Given the description of an element on the screen output the (x, y) to click on. 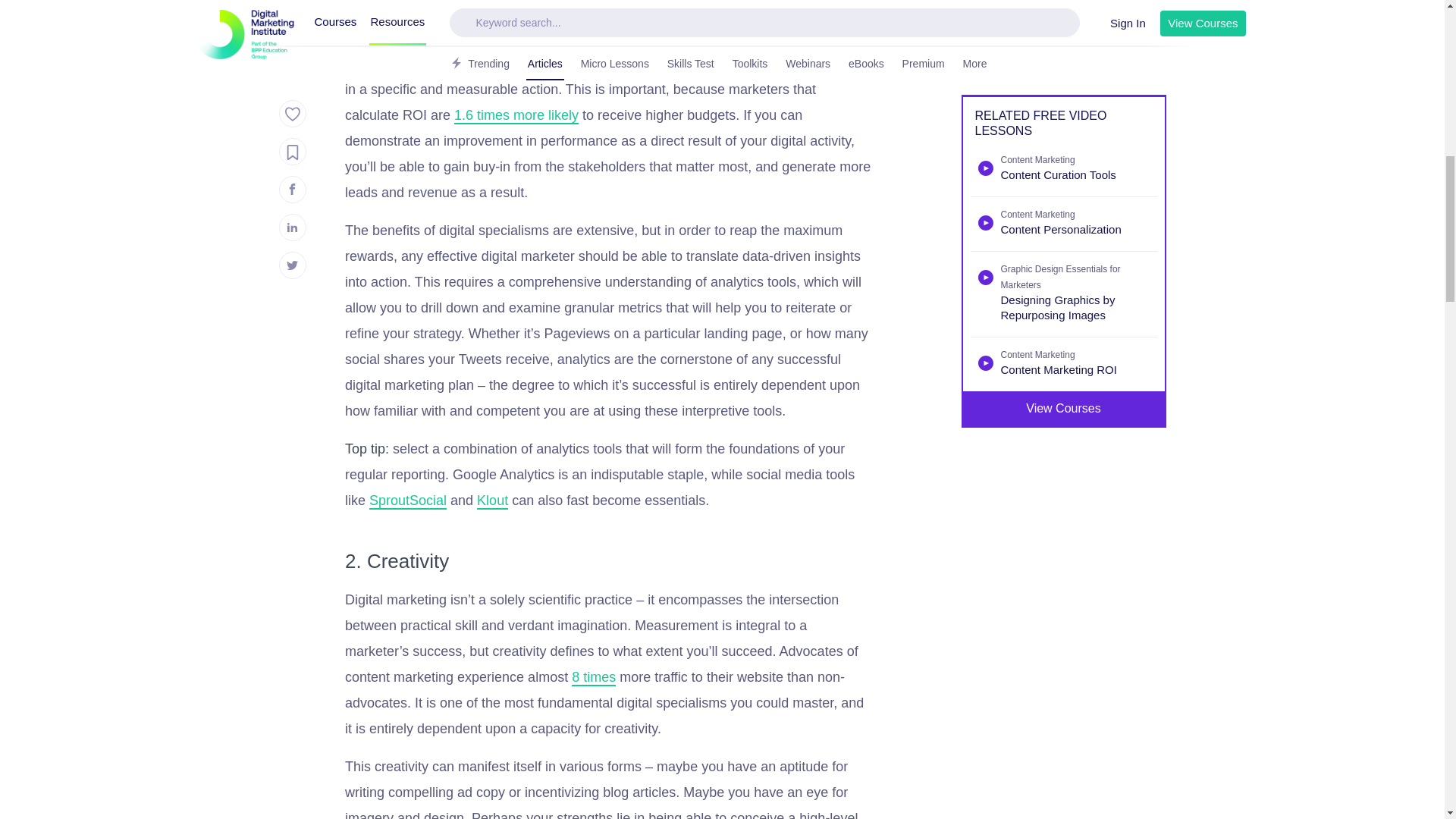
1.6 times more likely (516, 115)
Klout (492, 501)
8 times (593, 677)
SproutSocial (407, 501)
